Given the description of an element on the screen output the (x, y) to click on. 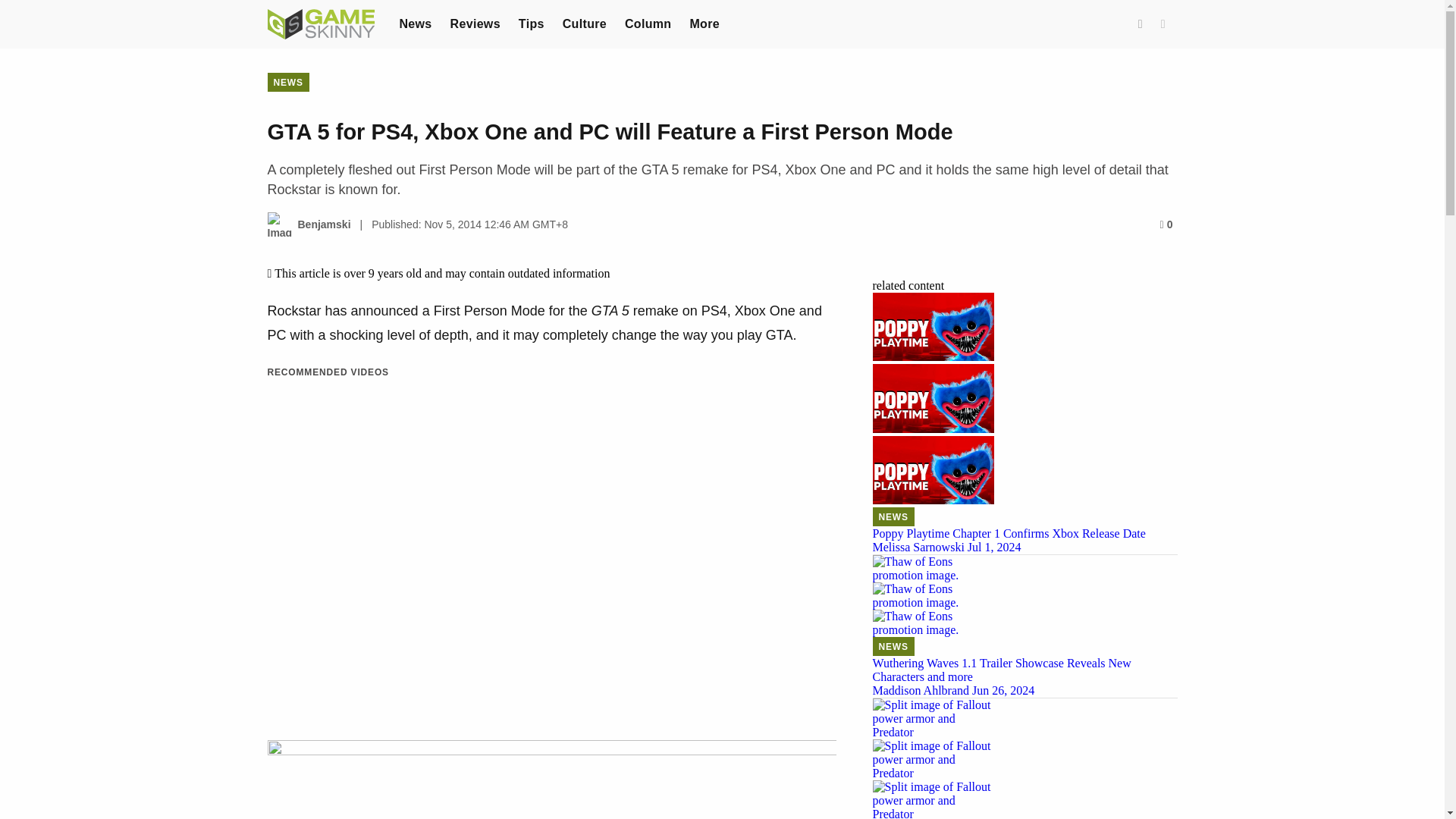
Tips (531, 23)
News (414, 23)
Column (647, 23)
Reviews (474, 23)
Culture (584, 23)
